Given the description of an element on the screen output the (x, y) to click on. 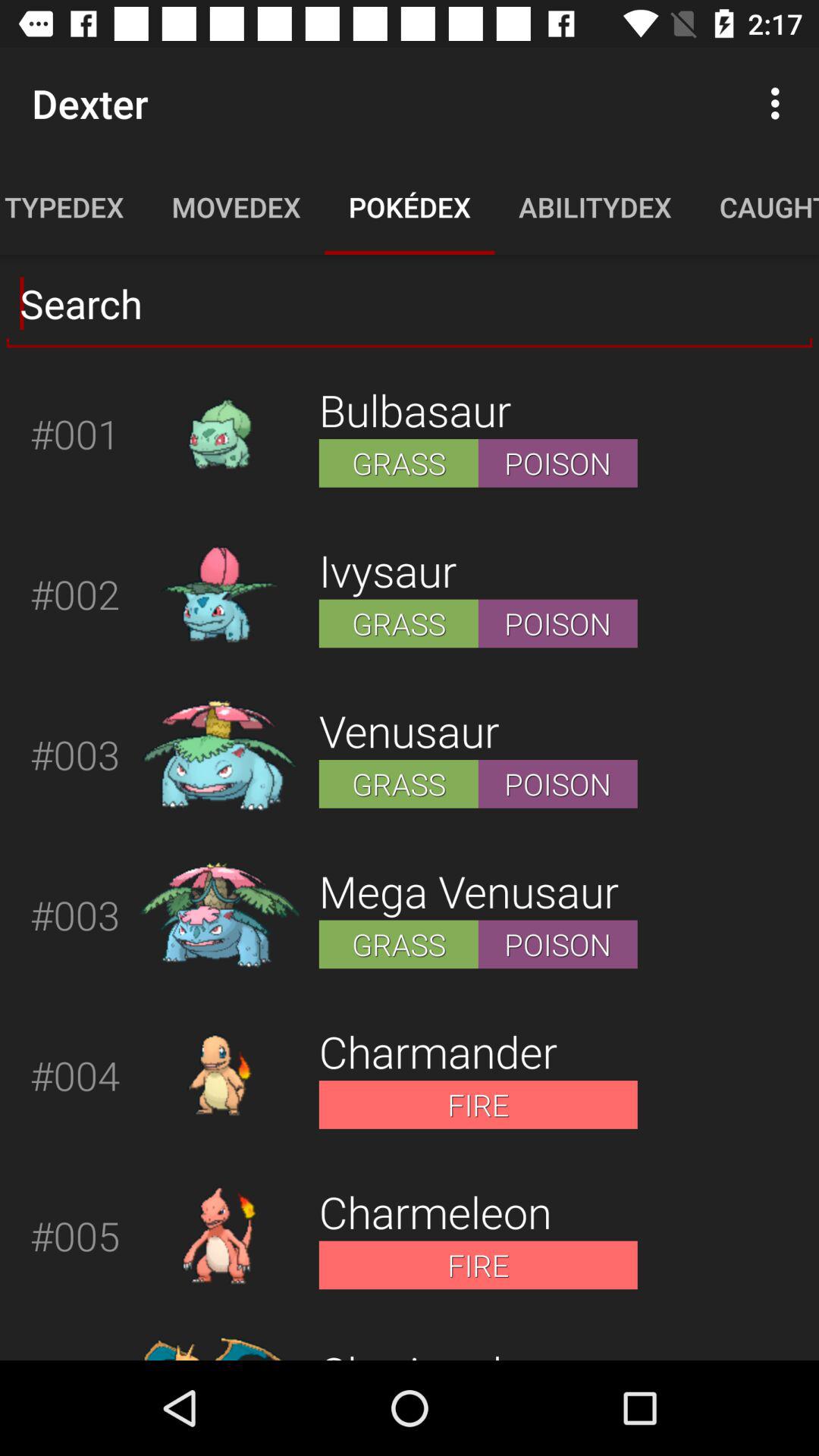
click the image beside bulbasaur (219, 433)
select more option on page (779, 103)
